Given the description of an element on the screen output the (x, y) to click on. 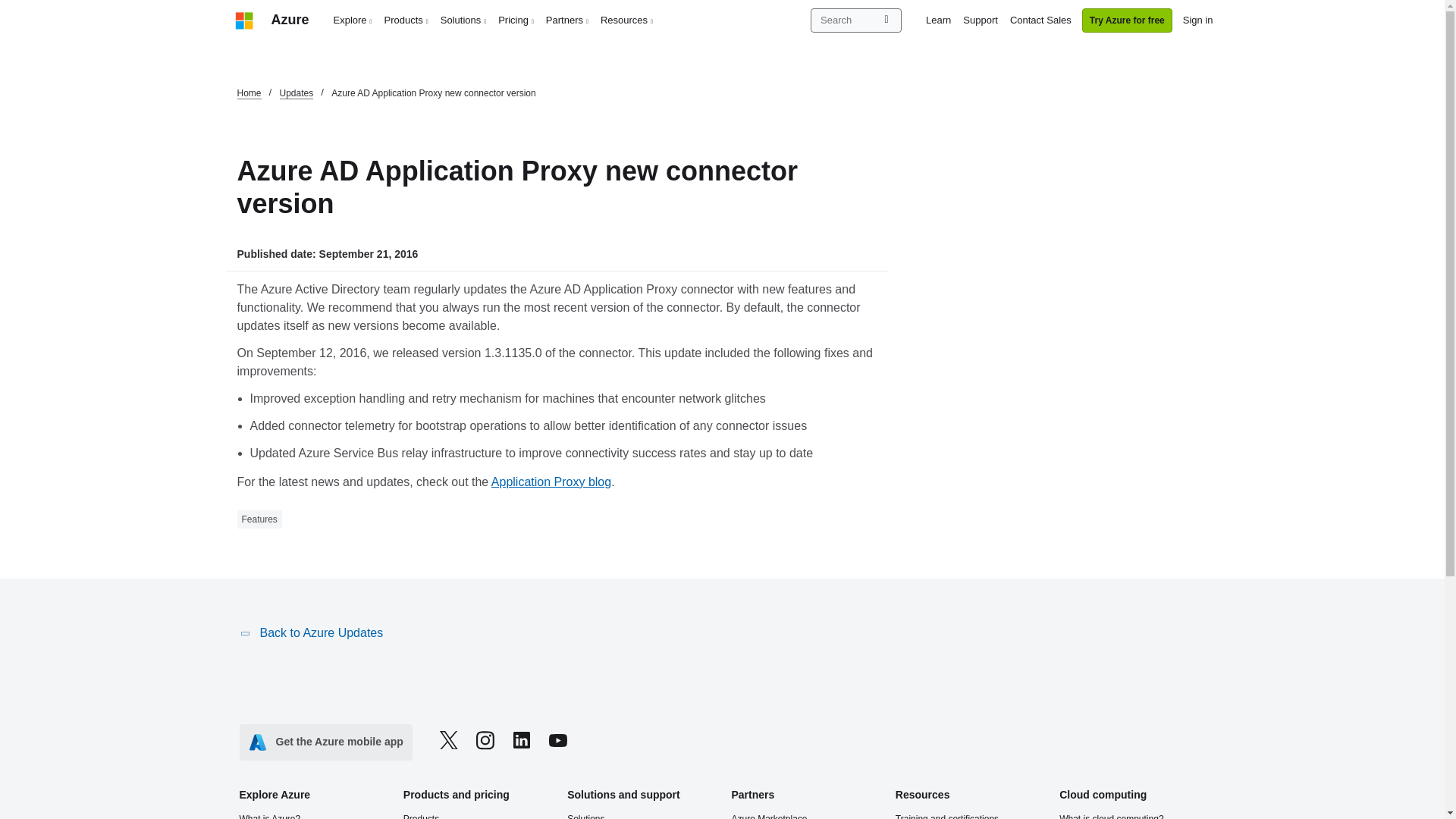
Products (405, 20)
Explore (352, 20)
Skip to main content (7, 7)
Azure (289, 19)
